Given the description of an element on the screen output the (x, y) to click on. 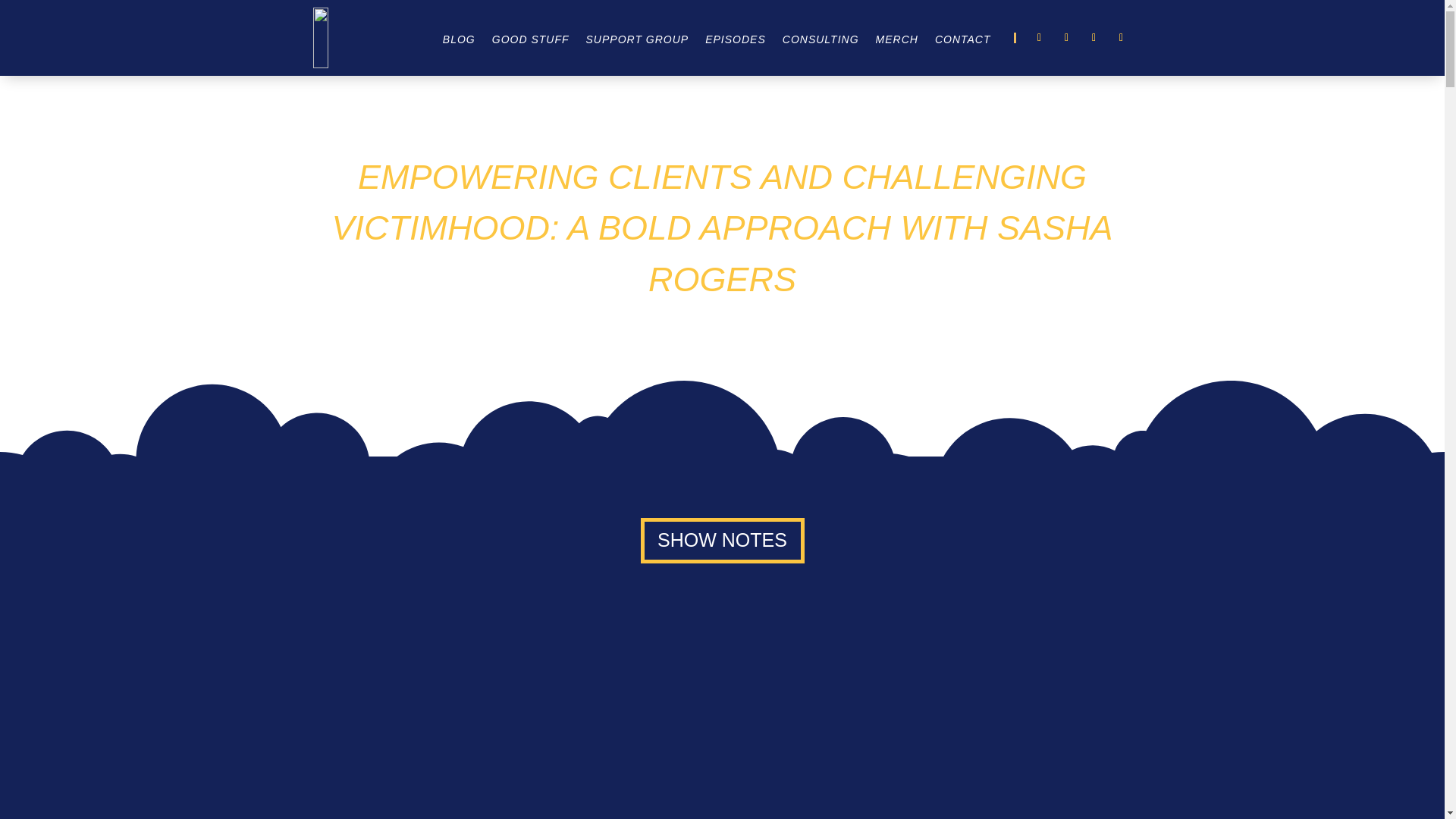
MERCH (897, 41)
Follow on Facebook (1038, 37)
Follow on Instagram (1093, 37)
BLOG (459, 41)
EPISODES (734, 41)
Follow on X (1066, 37)
CONSULTING (821, 41)
CONTACT (962, 41)
GOOD STUFF (530, 41)
